Given the description of an element on the screen output the (x, y) to click on. 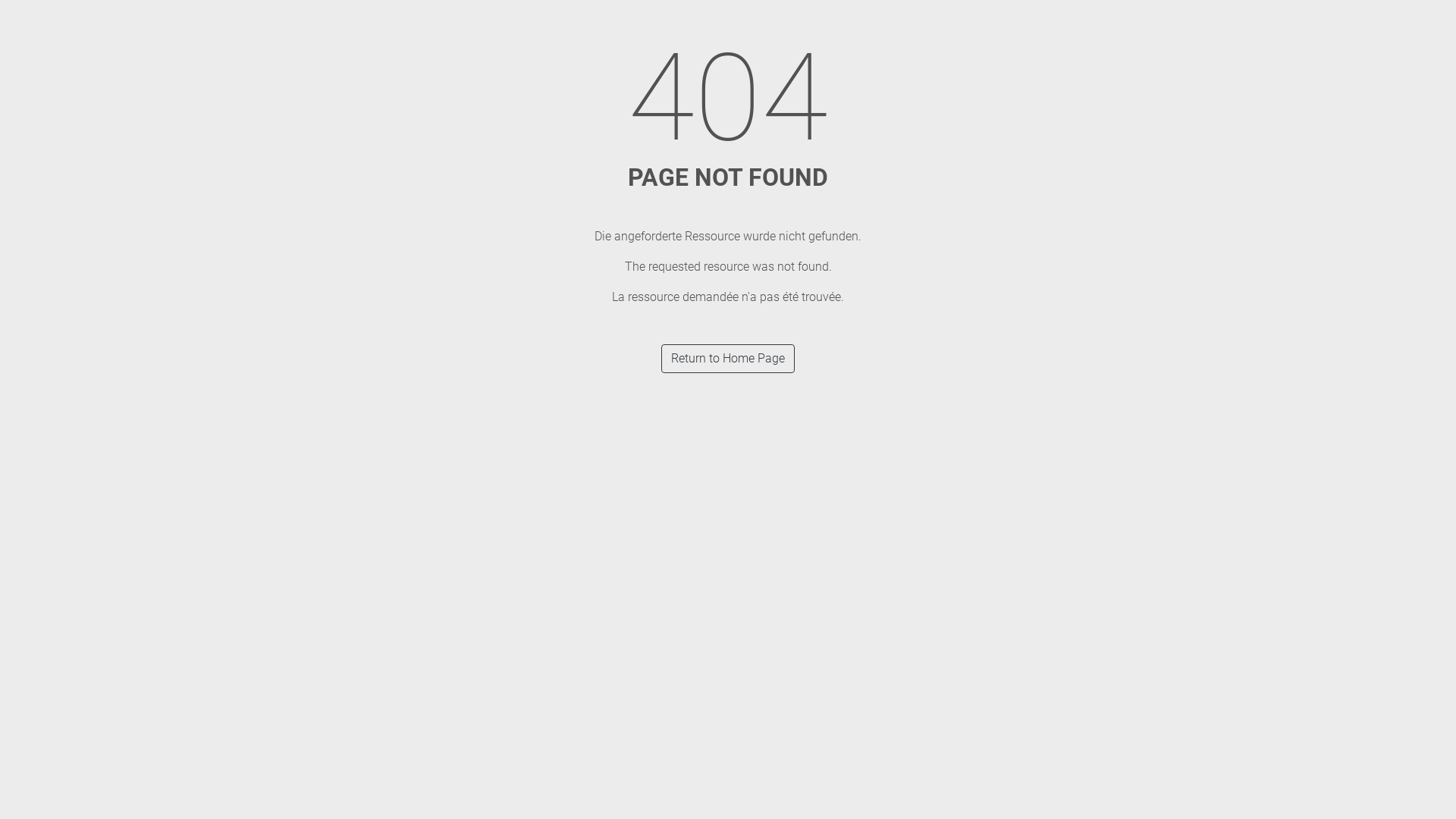
Return to Home Page Element type: text (727, 358)
